Given the description of an element on the screen output the (x, y) to click on. 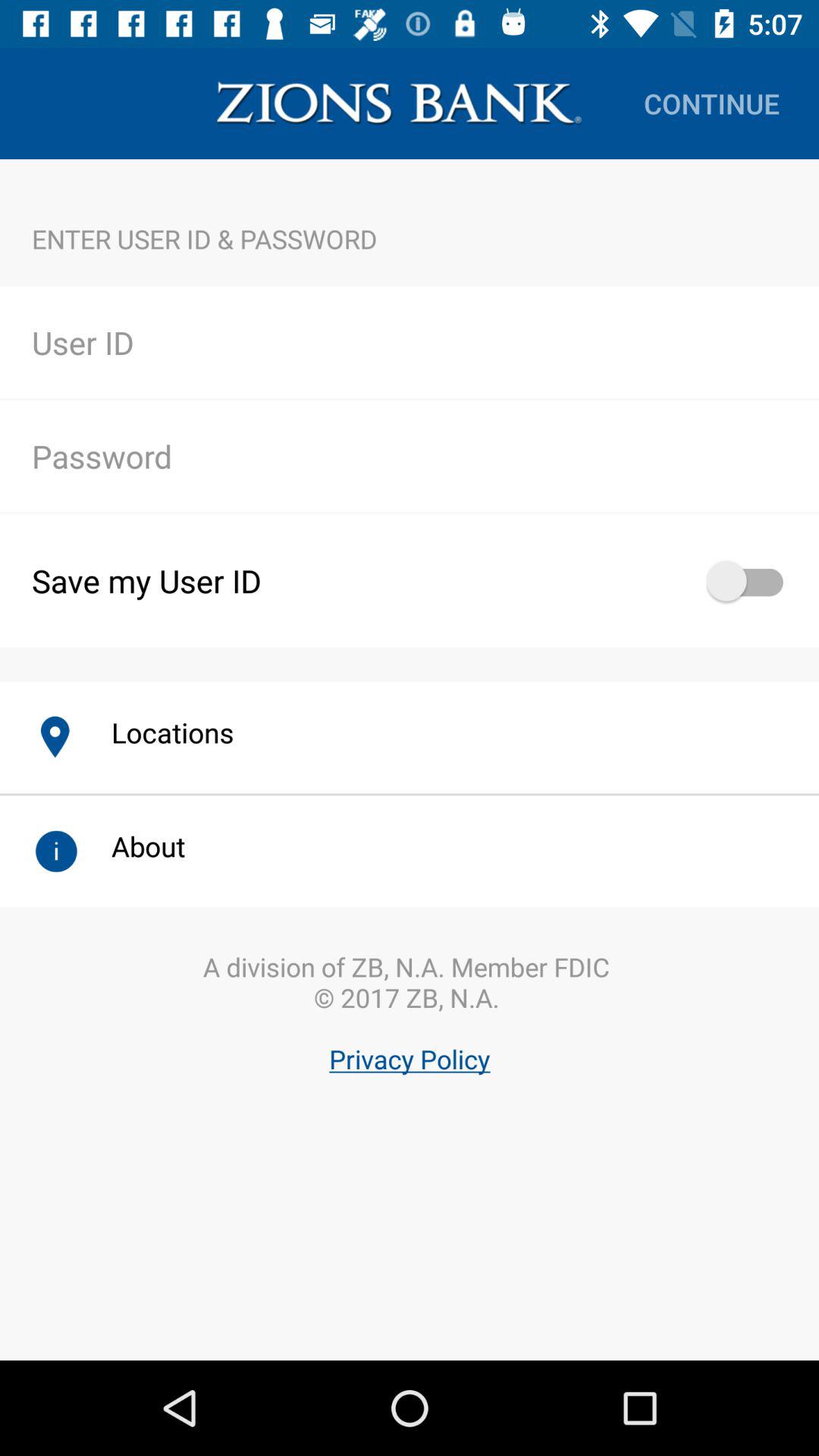
launch continue item (711, 103)
